Given the description of an element on the screen output the (x, y) to click on. 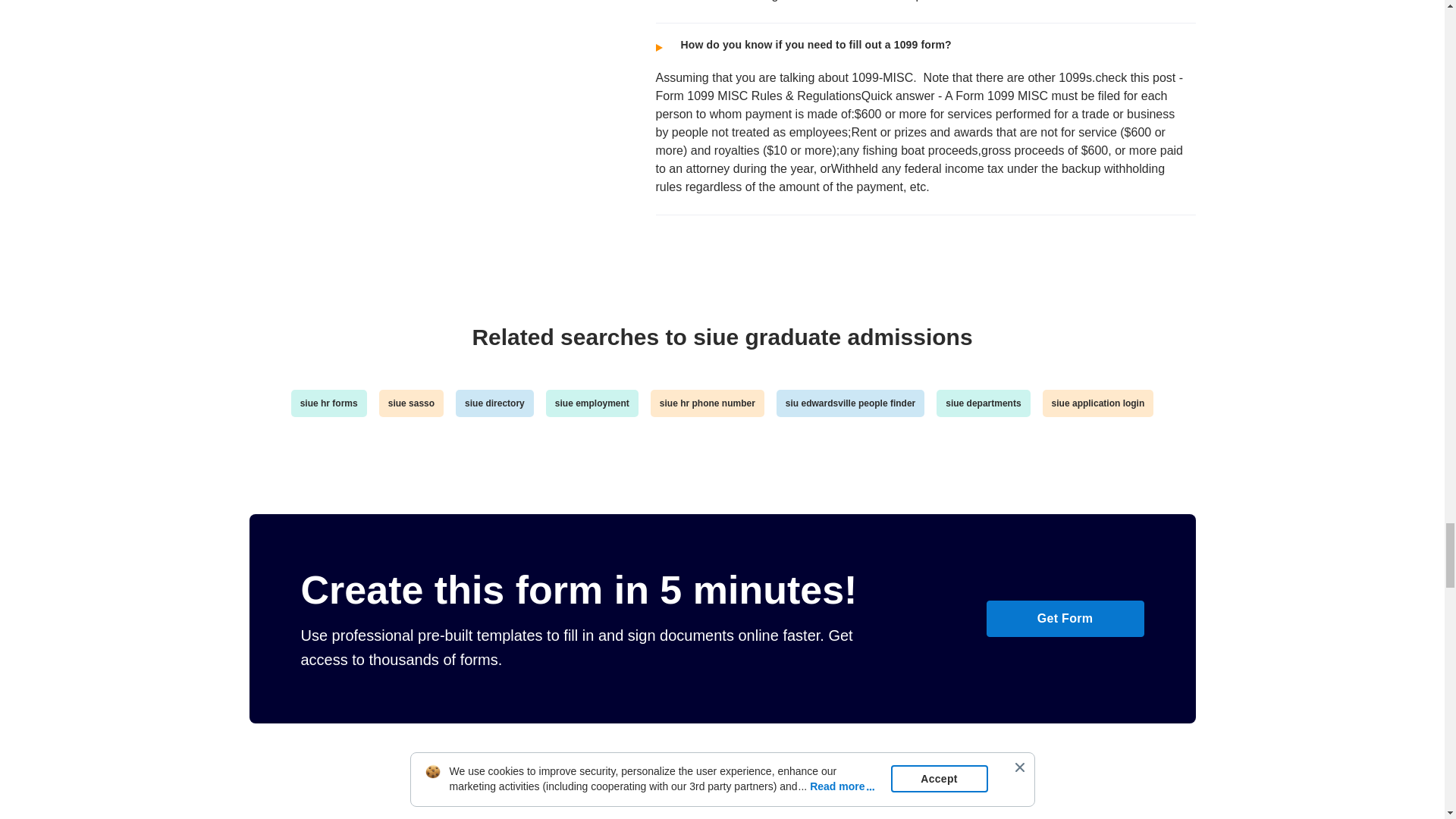
Get Form (1063, 618)
How do you know if you need to fill out a 1099 form? (918, 42)
